Given the description of an element on the screen output the (x, y) to click on. 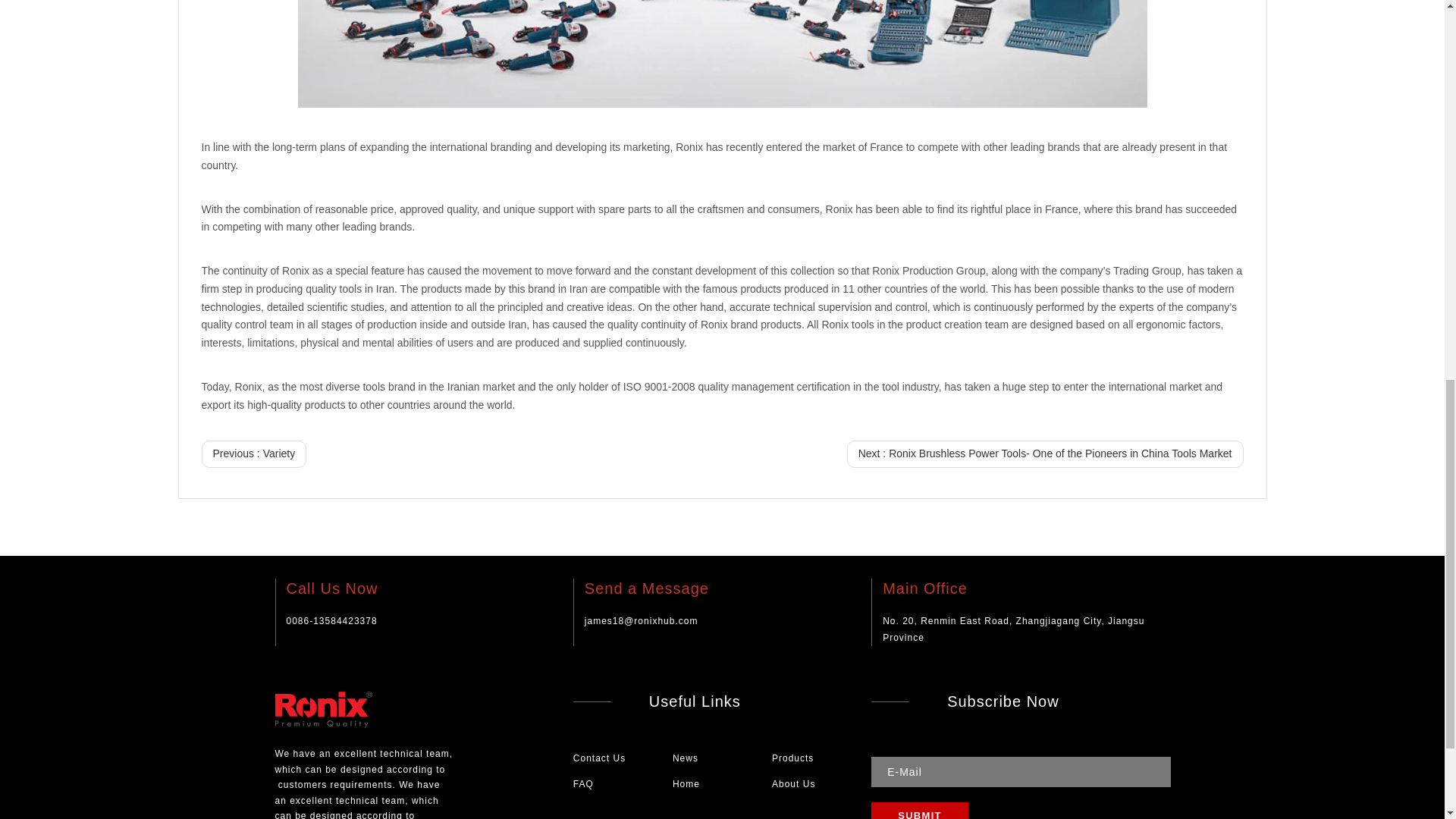
Home (686, 783)
Subscribe (919, 810)
About Us (793, 783)
News (685, 757)
FAQ (583, 783)
Contact Us (599, 757)
Products (792, 757)
